Given the description of an element on the screen output the (x, y) to click on. 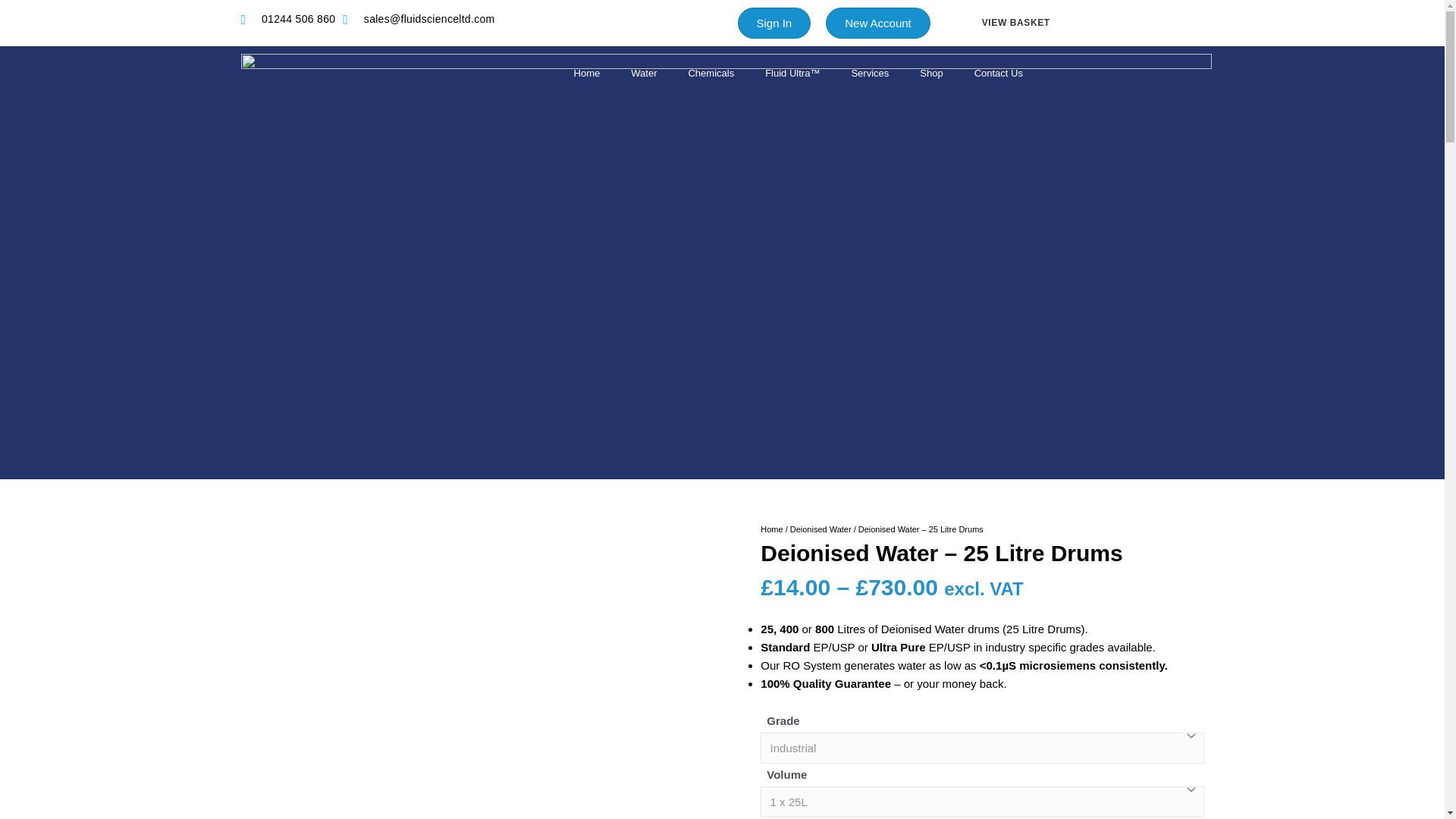
VIEW BASKET (996, 22)
Sign In (773, 22)
Chemicals (710, 72)
01244 506 860 (288, 19)
New Account (877, 22)
Home (587, 72)
Services (869, 72)
Contact Us (998, 72)
Water (643, 72)
Shop (931, 72)
